Given the description of an element on the screen output the (x, y) to click on. 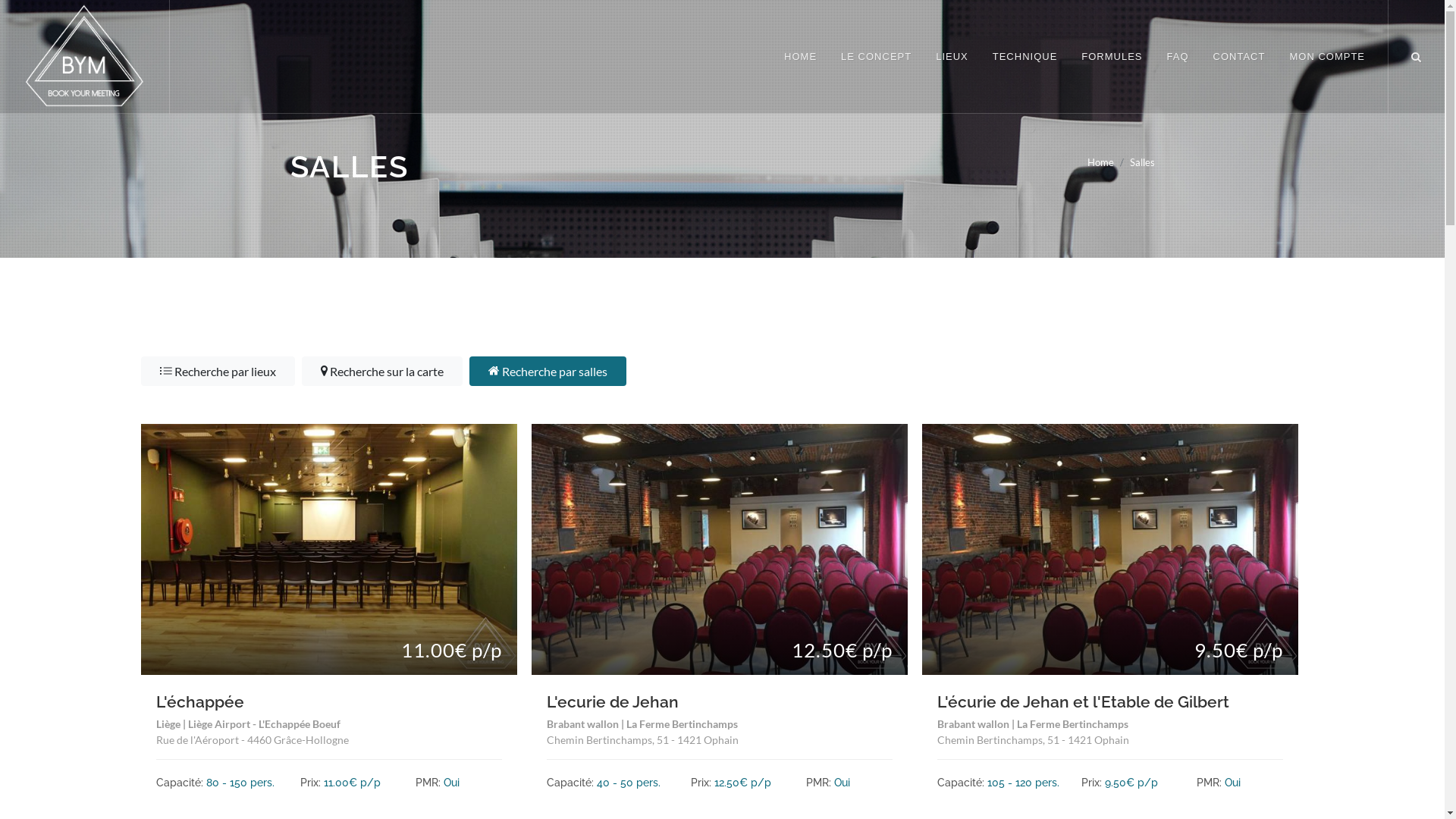
TECHNIQUE Element type: text (1025, 56)
FAQ Element type: text (1177, 56)
Recherche par lieux Element type: text (217, 370)
L'ecurie de Jehan Element type: text (612, 701)
FORMULES Element type: text (1111, 56)
HOME Element type: text (800, 56)
Recherche sur la carte Element type: text (381, 370)
LIEUX Element type: text (951, 56)
MON COMPTE Element type: text (1326, 56)
CONTACT Element type: text (1239, 56)
LE CONCEPT Element type: text (875, 56)
Home Element type: text (1100, 162)
Recherche par salles Element type: text (547, 370)
